Given the description of an element on the screen output the (x, y) to click on. 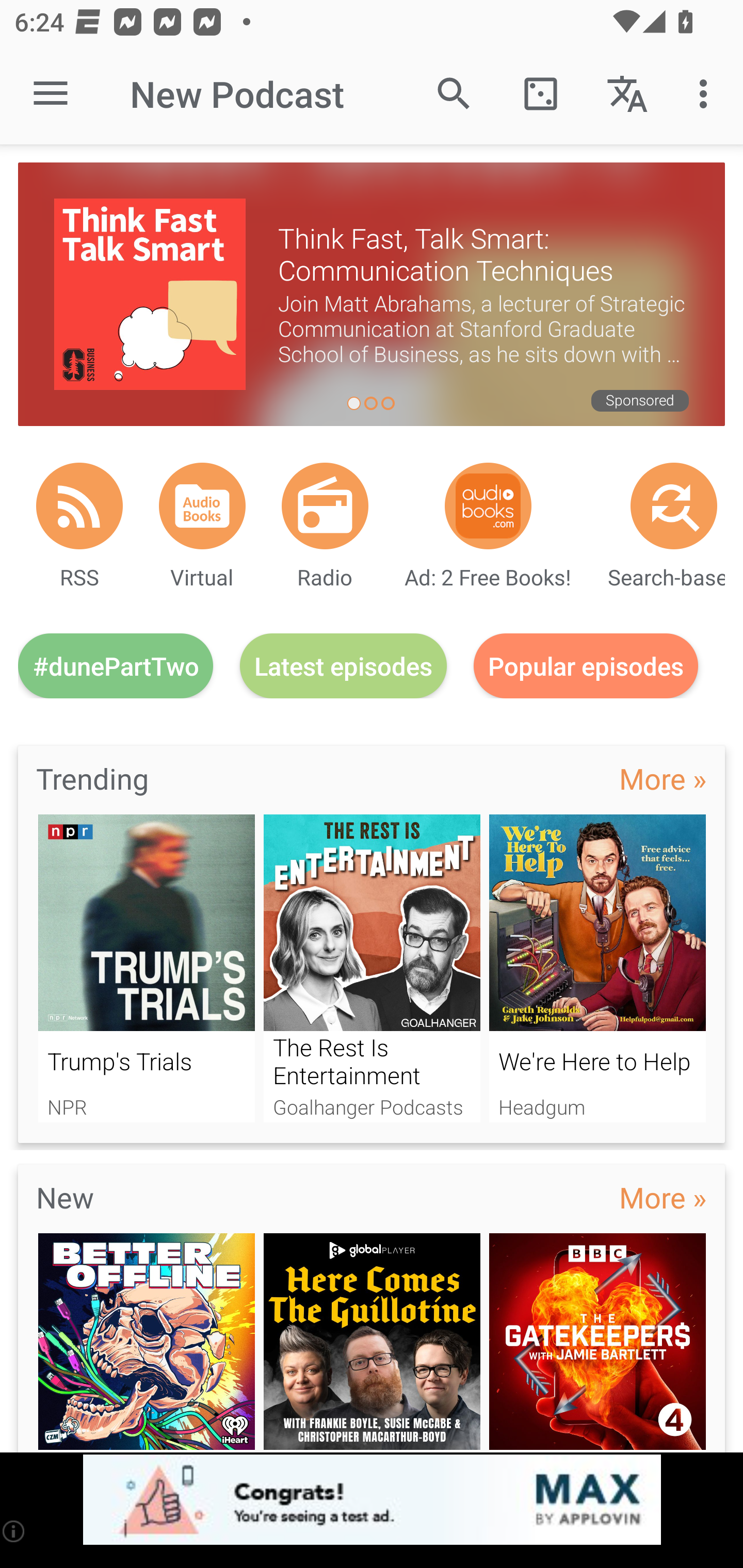
Open navigation sidebar (50, 93)
Search (453, 93)
Random pick (540, 93)
Podcast languages (626, 93)
More options (706, 93)
RSS (79, 505)
Virtual (202, 505)
Radio (324, 505)
Search-based (673, 505)
#dunePartTwo (115, 665)
Latest episodes (342, 665)
Popular episodes (586, 665)
More » (662, 778)
Trump's Trials NPR (145, 967)
The Rest Is Entertainment Goalhanger Podcasts (371, 967)
We're Here to Help Headgum (596, 967)
More » (662, 1196)
Better Offline (145, 1342)
Here Comes The Guillotine (371, 1342)
The Gatekeepers (596, 1342)
app-monetization (371, 1500)
(i) (14, 1531)
